Given the description of an element on the screen output the (x, y) to click on. 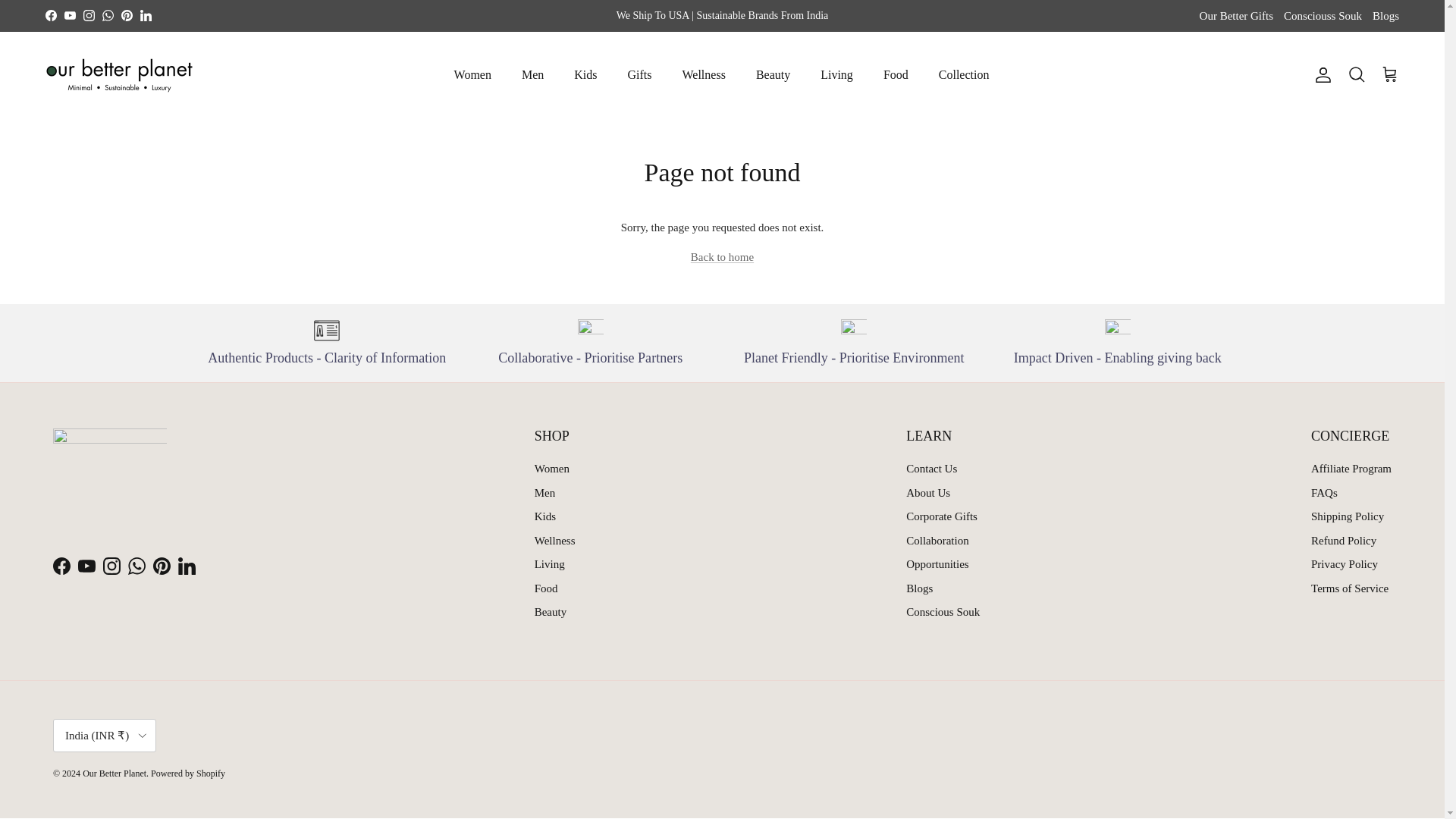
Cart (1389, 75)
Gifts (639, 74)
Our Better Planet on Instagram (88, 15)
WhatsApp (107, 15)
Wellness (703, 74)
Our Better Planet on Pinterest (161, 565)
Our Better Planet (119, 75)
Women (473, 74)
Collection (963, 74)
Our Better Planet on Facebook (60, 565)
